Given the description of an element on the screen output the (x, y) to click on. 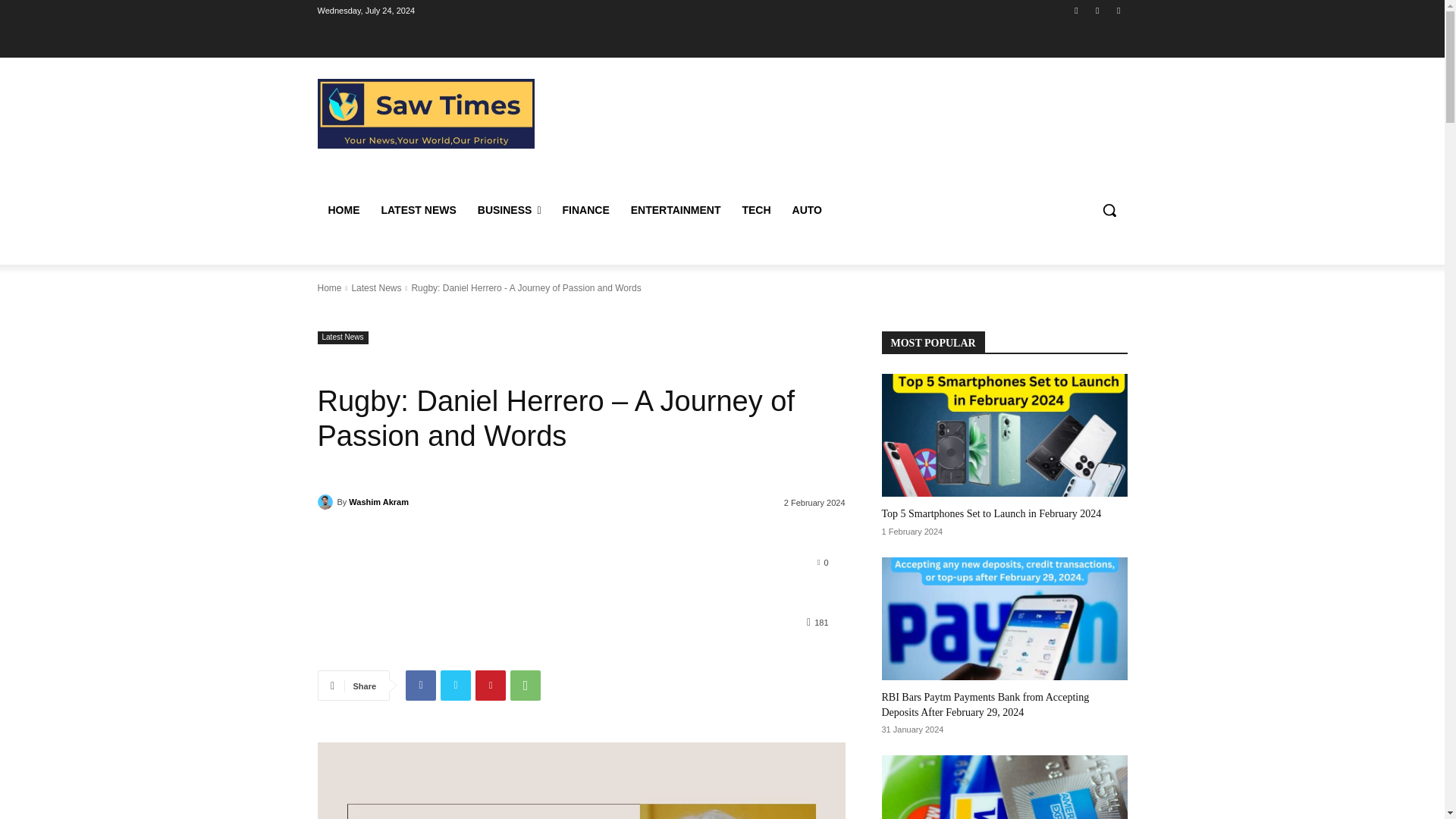
WhatsApp (1117, 9)
0 (822, 561)
Twitter (455, 685)
Latest News (375, 287)
LATEST NEWS (417, 209)
HOME (343, 209)
FINANCE (585, 209)
Pinterest (490, 685)
Twitter (1097, 9)
Washim Akram (326, 501)
Facebook (1075, 9)
BUSINESS (509, 209)
Latest News (342, 337)
TECH (755, 209)
View all posts in Latest News (375, 287)
